Given the description of an element on the screen output the (x, y) to click on. 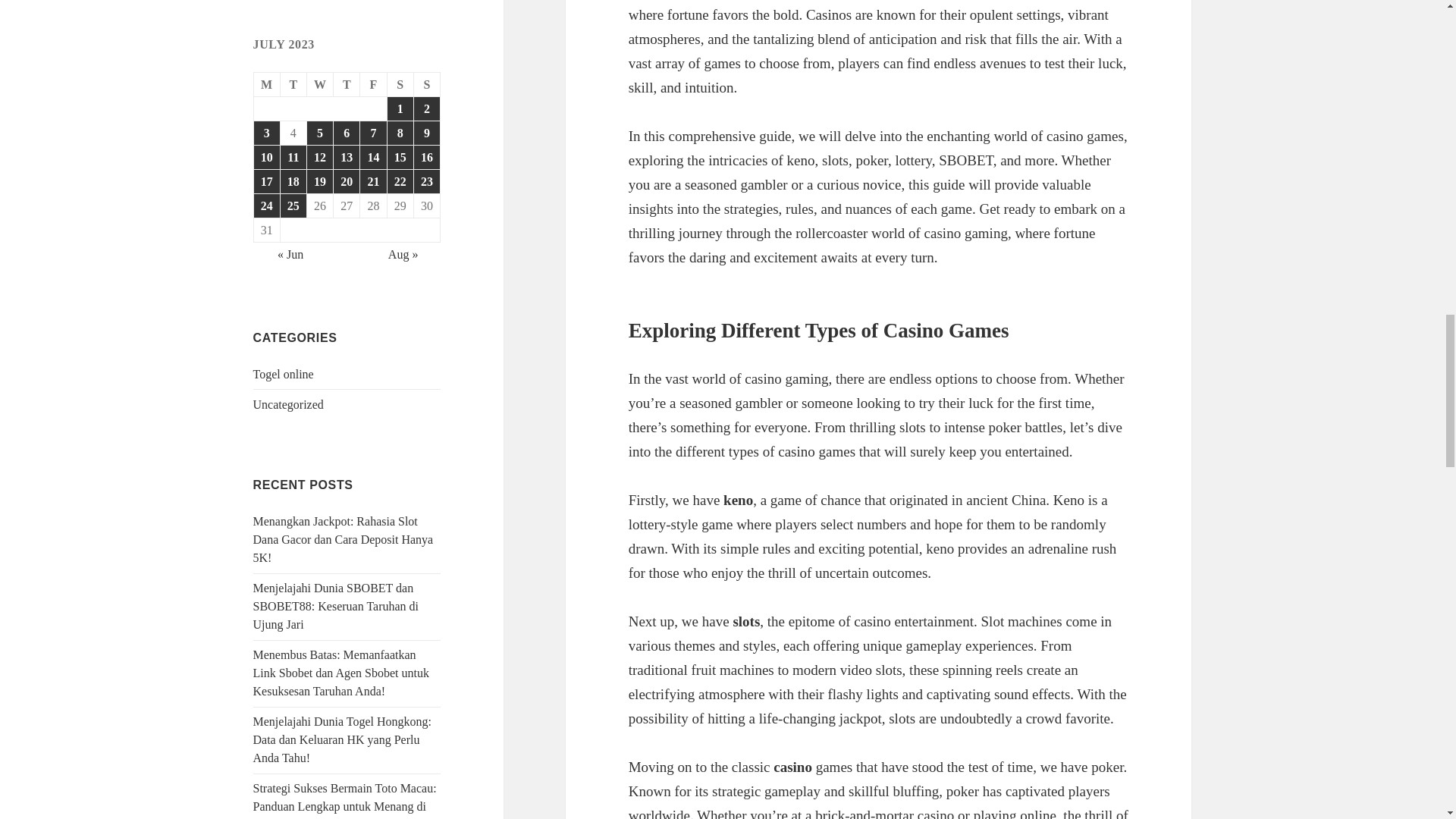
Sunday (427, 84)
Saturday (400, 84)
Friday (373, 84)
Thursday (346, 84)
Wednesday (320, 84)
Tuesday (294, 84)
Monday (267, 84)
